Given the description of an element on the screen output the (x, y) to click on. 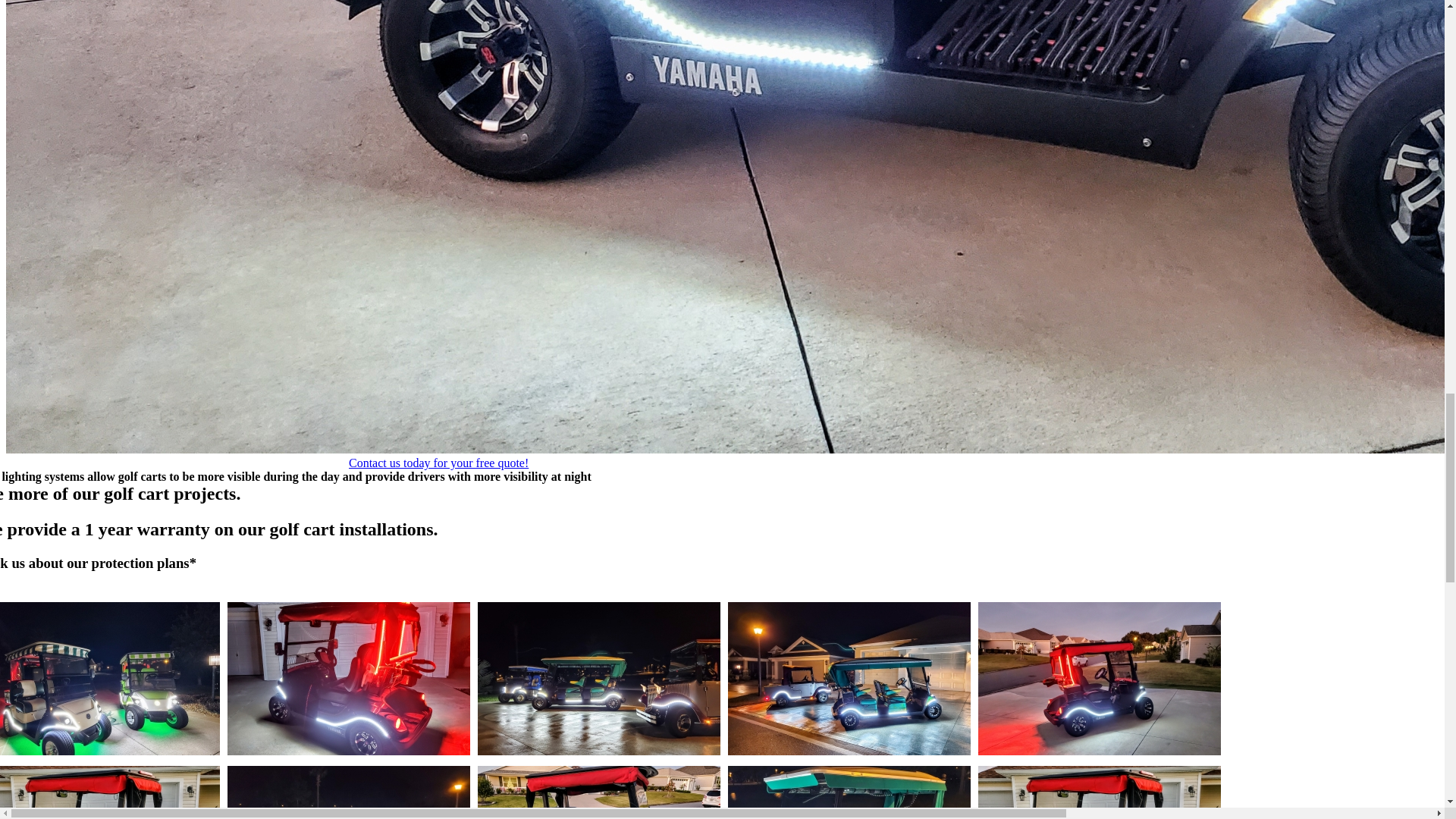
Contact us today for your free quote! (438, 462)
